Given the description of an element on the screen output the (x, y) to click on. 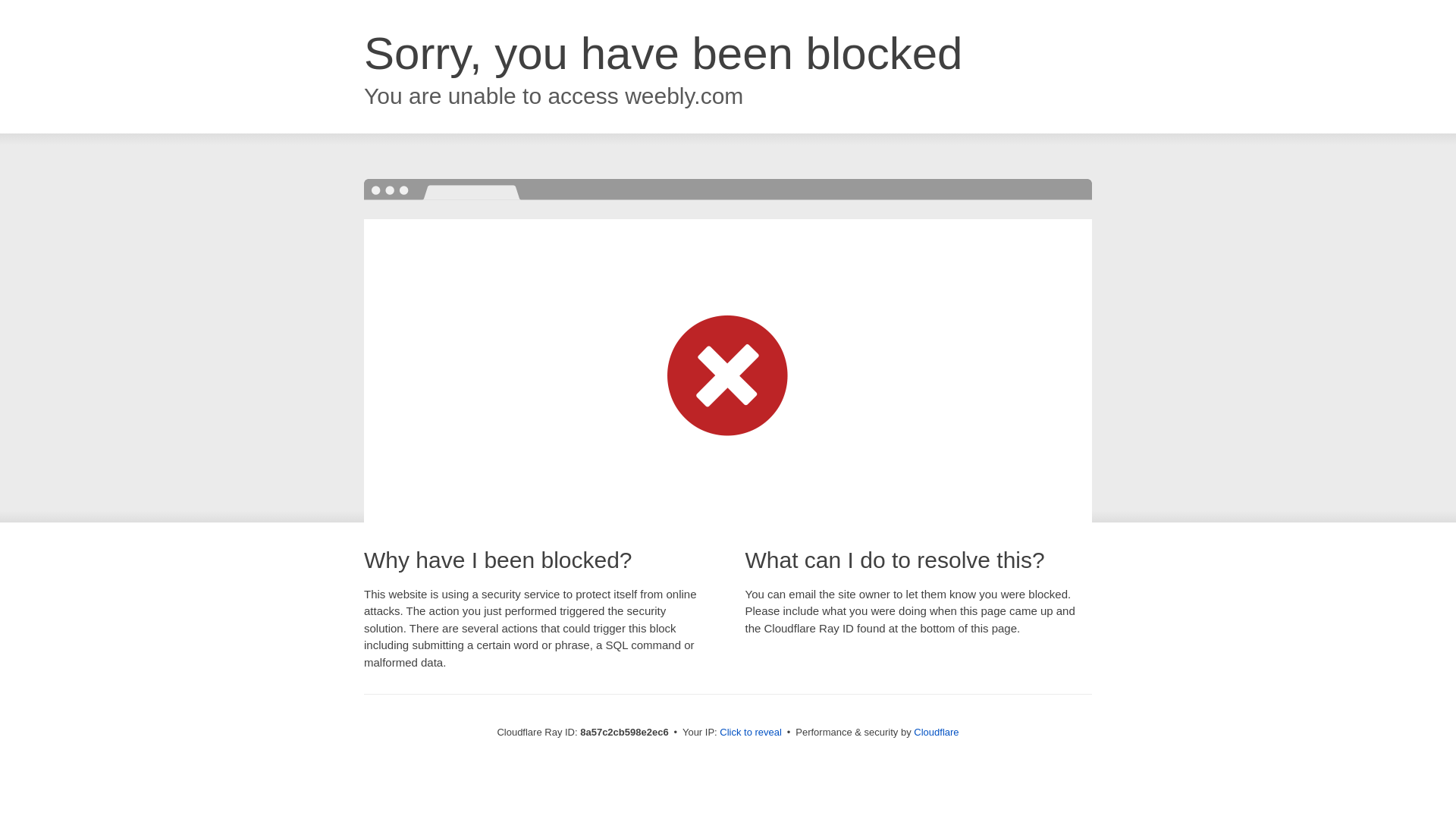
Cloudflare (936, 731)
Click to reveal (750, 732)
